Given the description of an element on the screen output the (x, y) to click on. 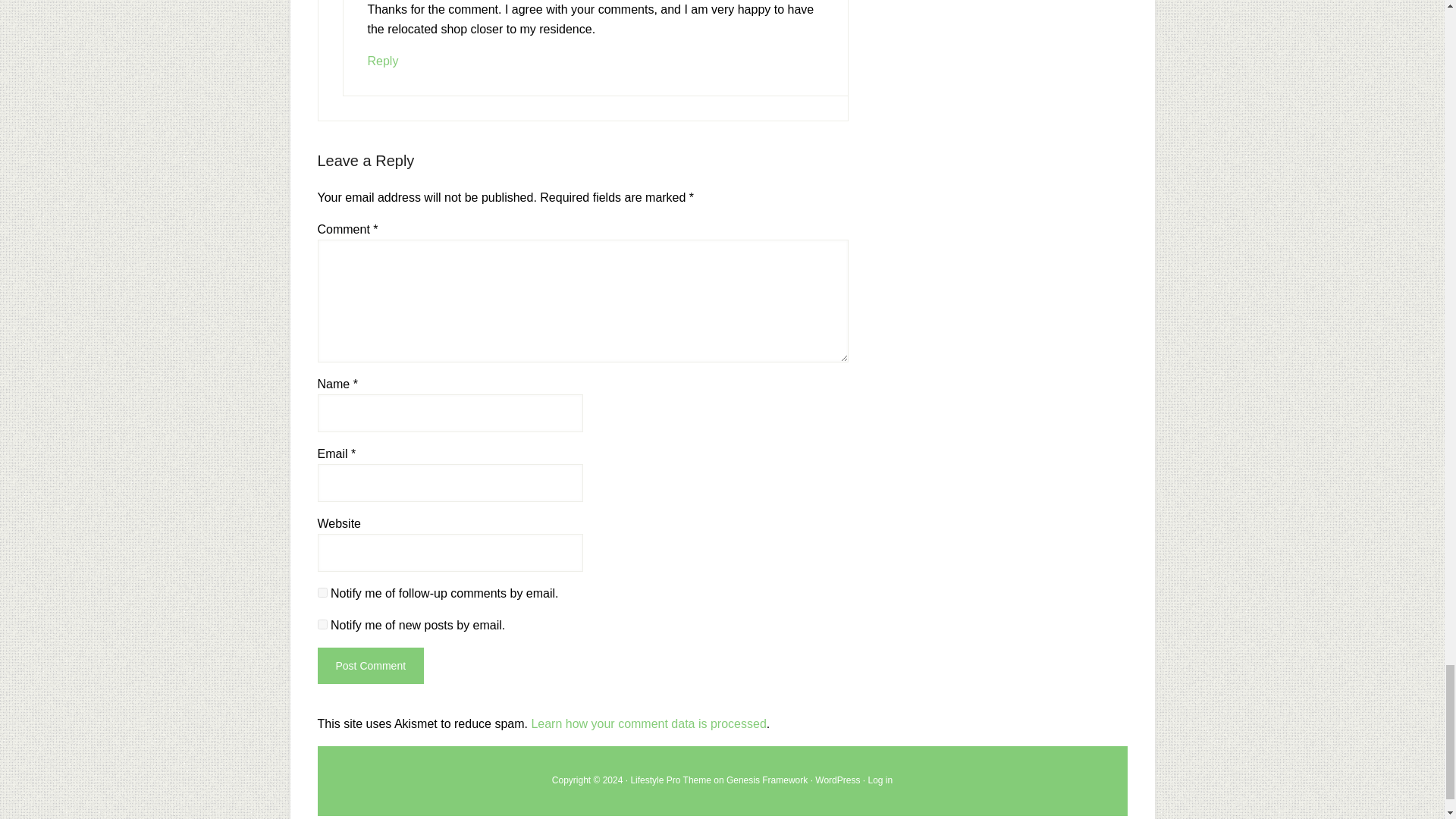
Post Comment (370, 665)
subscribe (321, 624)
Learn how your comment data is processed (648, 723)
subscribe (321, 592)
Post Comment (370, 665)
Reply (381, 60)
